Given the description of an element on the screen output the (x, y) to click on. 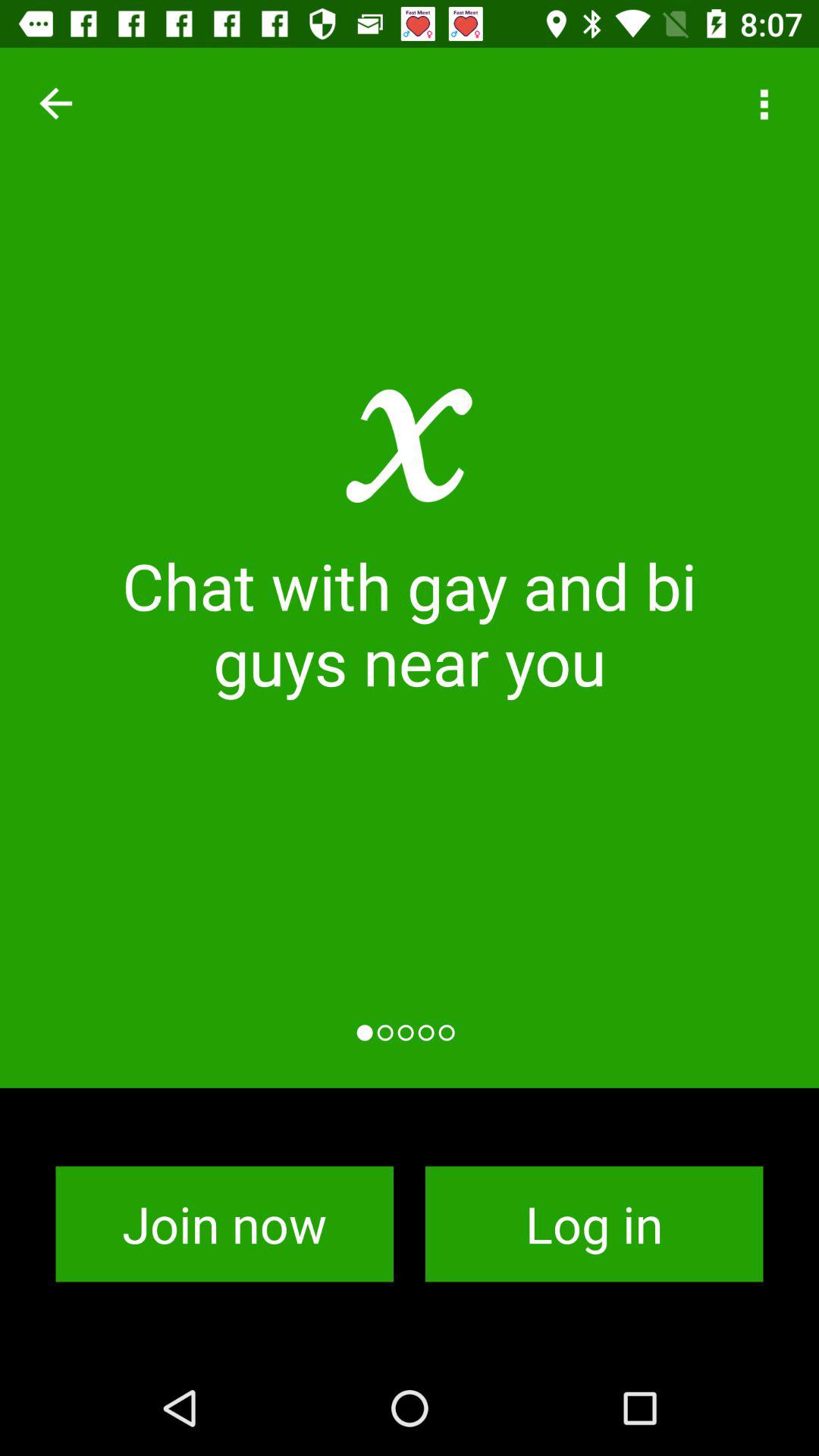
launch the app to the right of the join now icon (594, 1223)
